Given the description of an element on the screen output the (x, y) to click on. 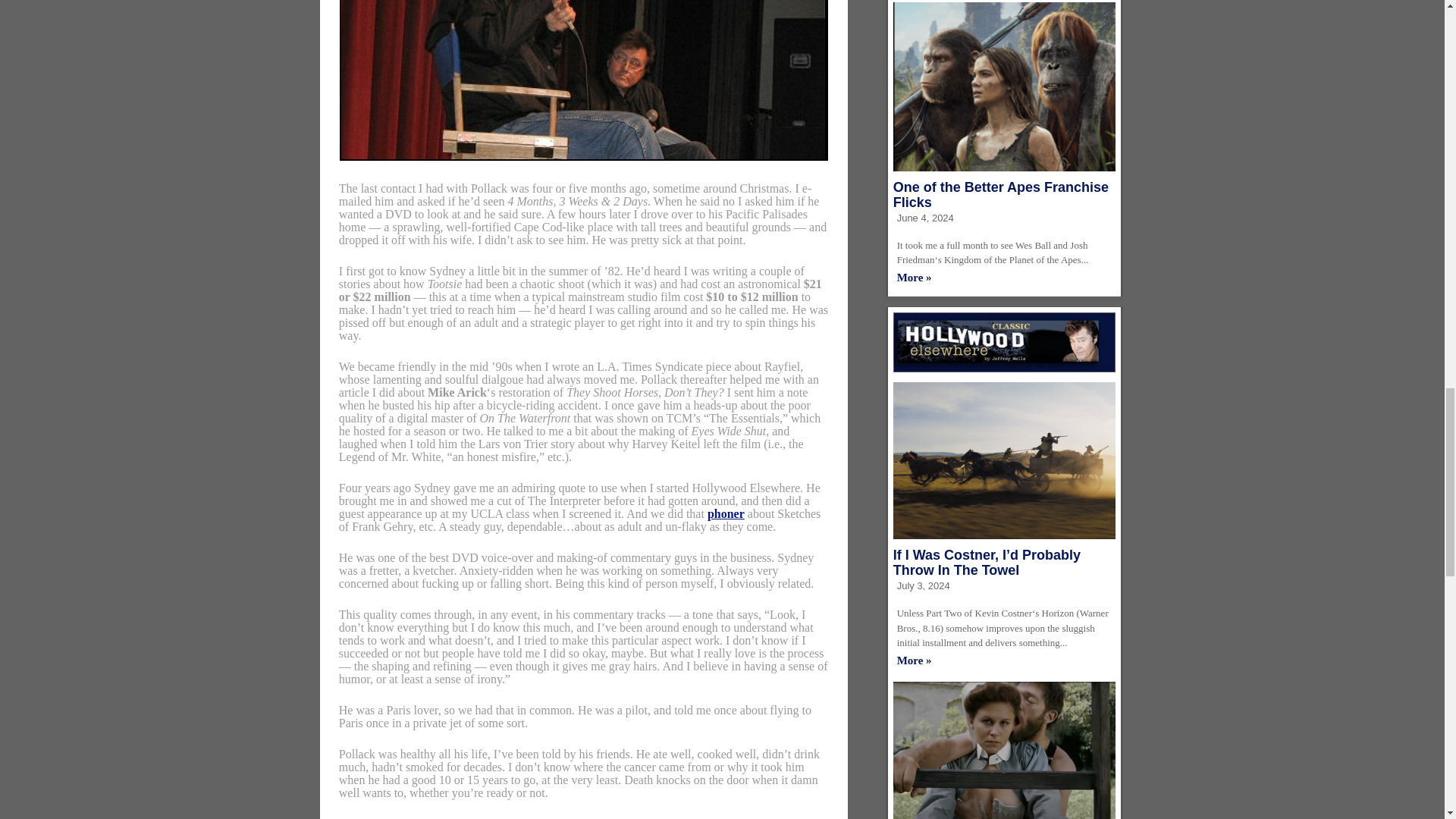
phoner (725, 513)
